Given the description of an element on the screen output the (x, y) to click on. 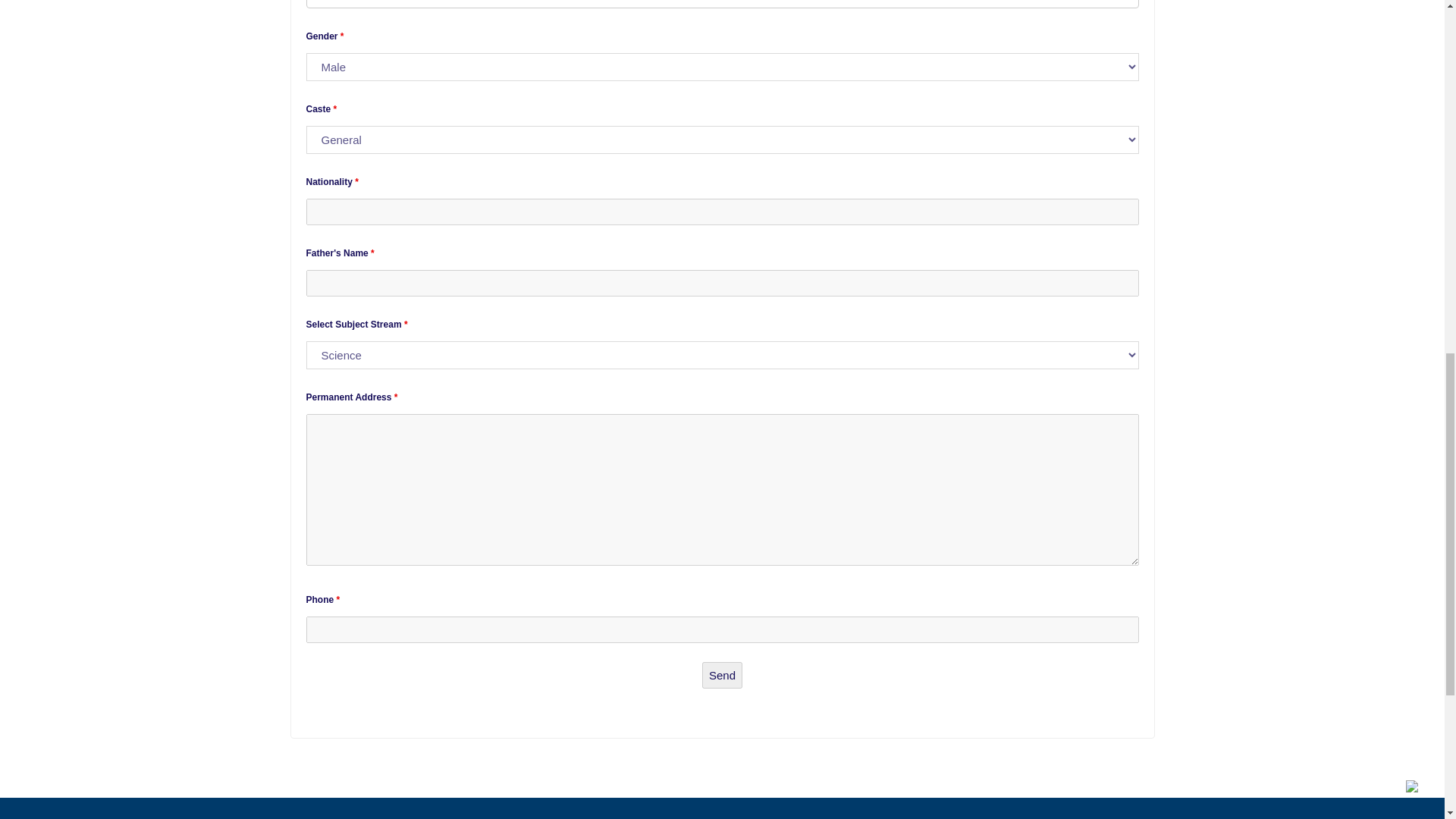
Send (721, 674)
